Given the description of an element on the screen output the (x, y) to click on. 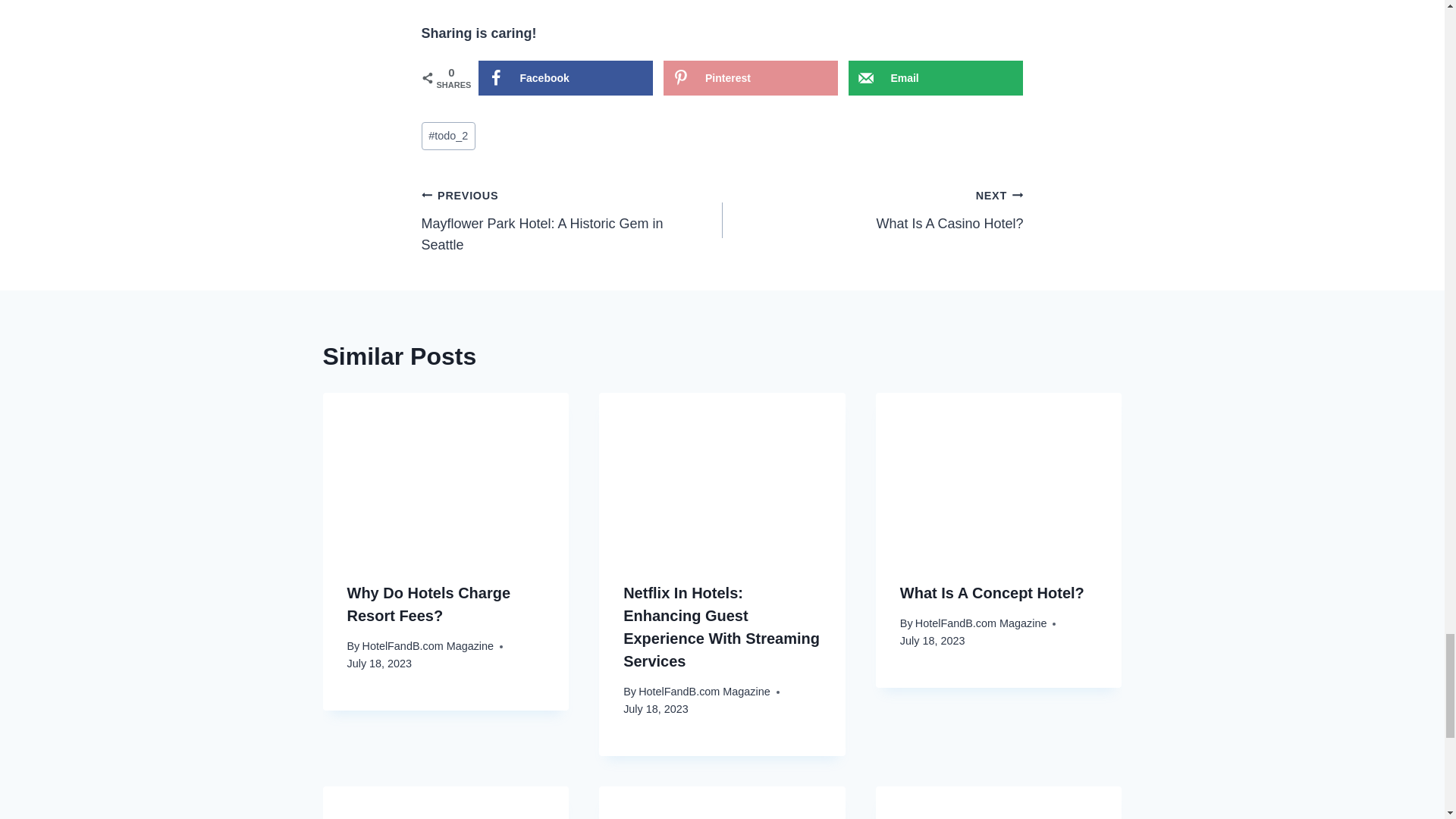
Share on Facebook (564, 77)
What Is A Concept Hotel? (991, 592)
Why Do Hotels Charge Resort Fees? (429, 604)
HotelFandB.com Magazine (704, 691)
Email (935, 77)
HotelFandB.com Magazine (980, 623)
Pinterest (572, 220)
HotelFandB.com Magazine (872, 209)
Send over email (750, 77)
Facebook (427, 645)
Save to Pinterest (935, 77)
